Given the description of an element on the screen output the (x, y) to click on. 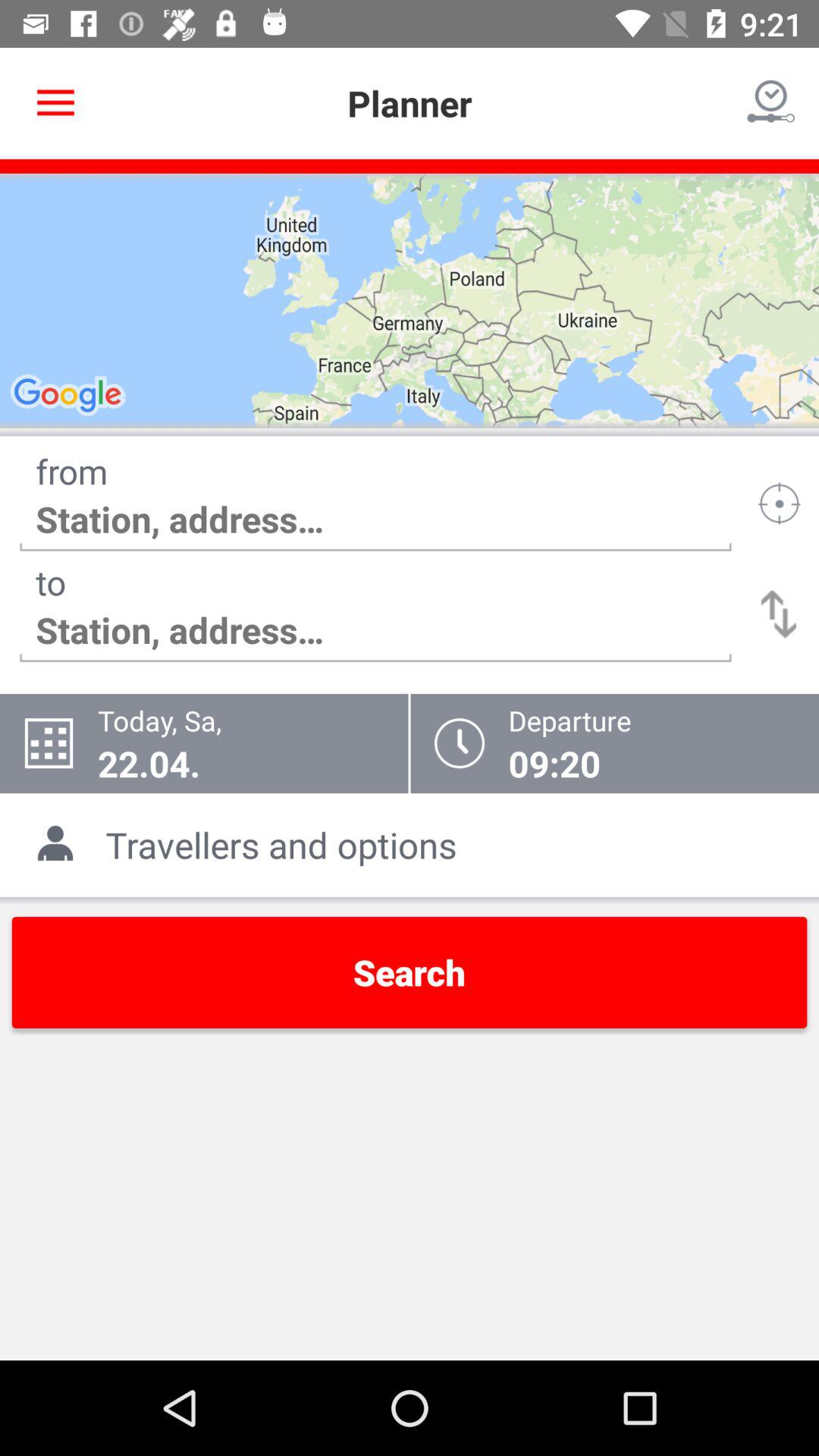
select item next to planner icon (55, 103)
